Given the description of an element on the screen output the (x, y) to click on. 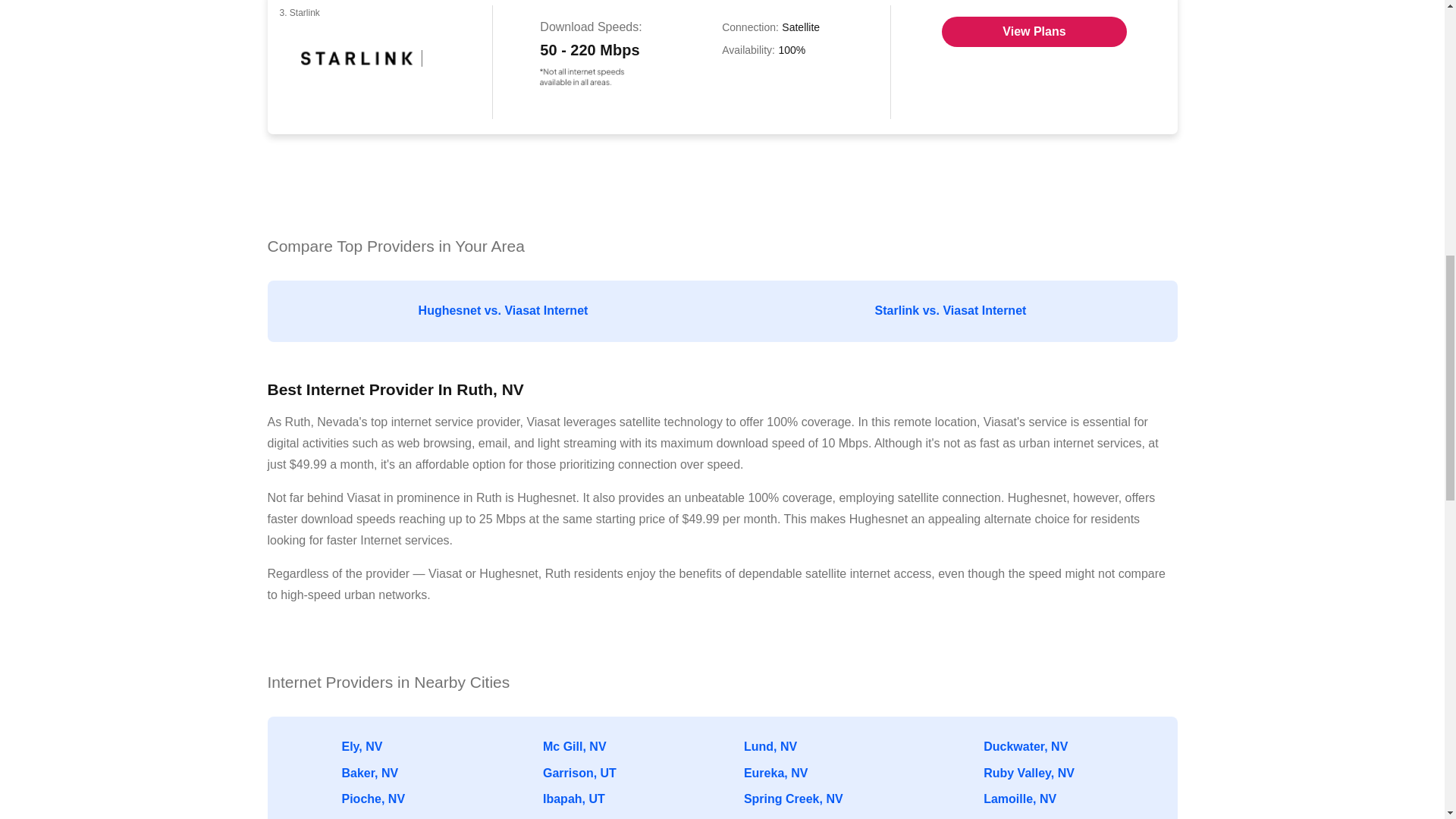
Opens in a new window (1034, 31)
